Given the description of an element on the screen output the (x, y) to click on. 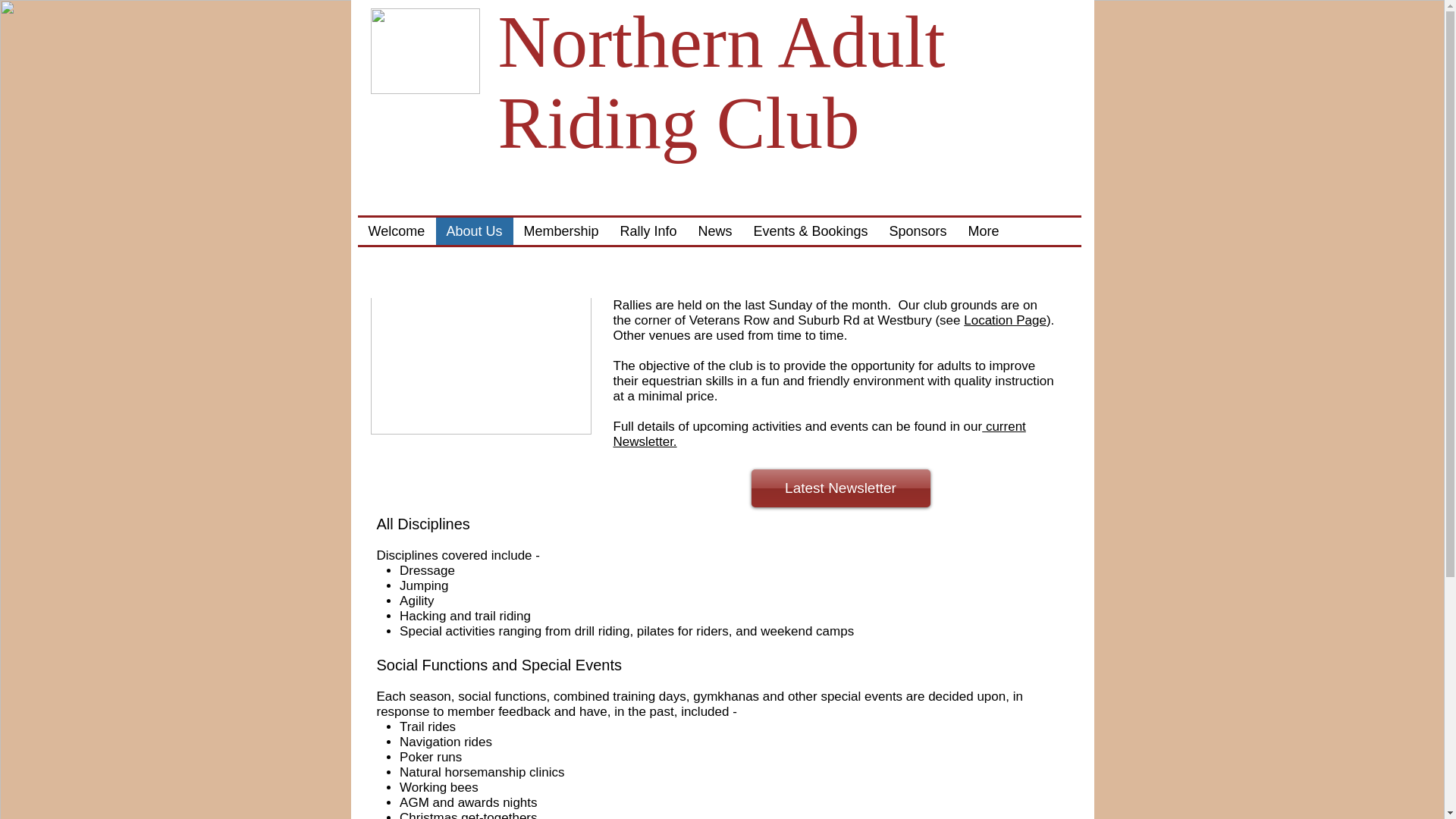
 current Newsletter. Element type: text (818, 433)
News Element type: text (714, 230)
Rally Info Element type: text (648, 230)
Latest Newsletter Element type: text (839, 488)
Events & Bookings Element type: text (810, 230)
Membership Element type: text (560, 230)
About Us Element type: text (473, 230)
Sponsors Element type: text (917, 230)
Location Page Element type: text (1004, 320)
Welcome Element type: text (396, 230)
